Given the description of an element on the screen output the (x, y) to click on. 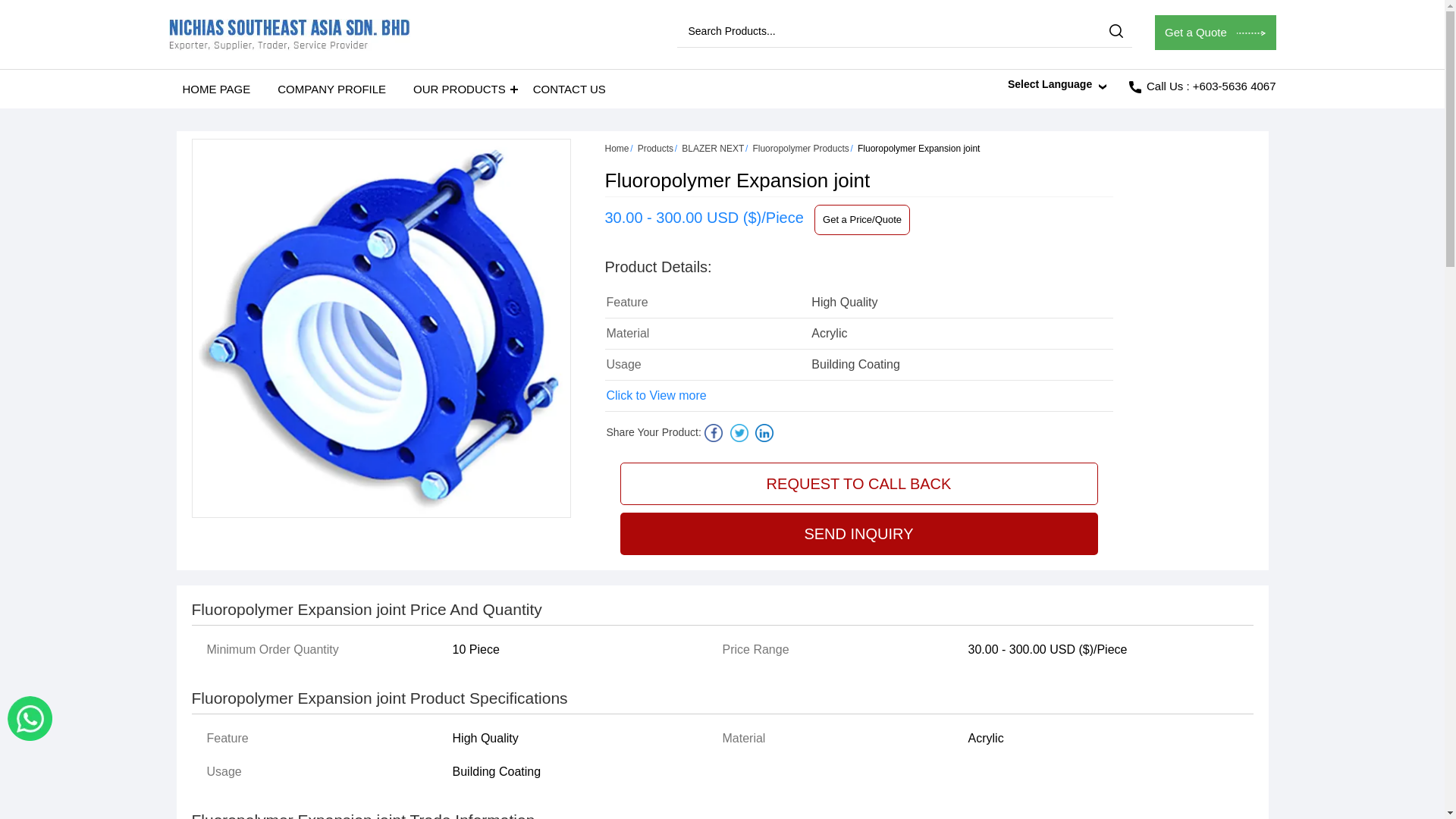
Search Products... (869, 30)
COMPANY PROFILE (330, 88)
Select Language (1053, 84)
Get a Quote (1214, 32)
submit (1115, 30)
HOME PAGE (215, 88)
OUR PRODUCTS (458, 88)
submit (1115, 30)
CONTACT US (569, 88)
Nichias Southeast Asia SDN. BHD. (288, 34)
